Given the description of an element on the screen output the (x, y) to click on. 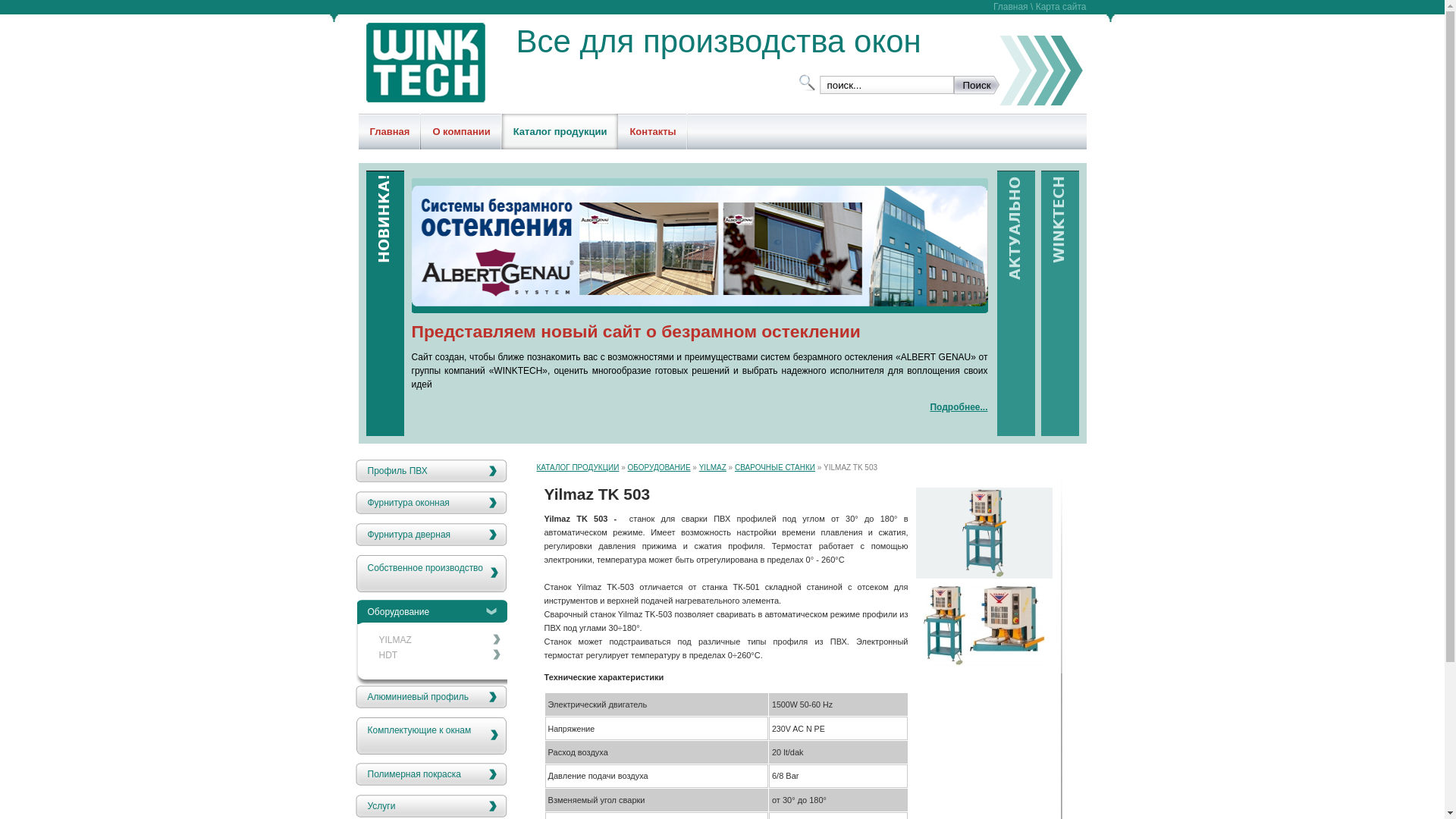
Yilmaz TK 503 Element type: hover (983, 663)
YILMAZ Element type: text (433, 638)
YILMAZ Element type: text (712, 467)
HDT Element type: text (433, 654)
